Given the description of an element on the screen output the (x, y) to click on. 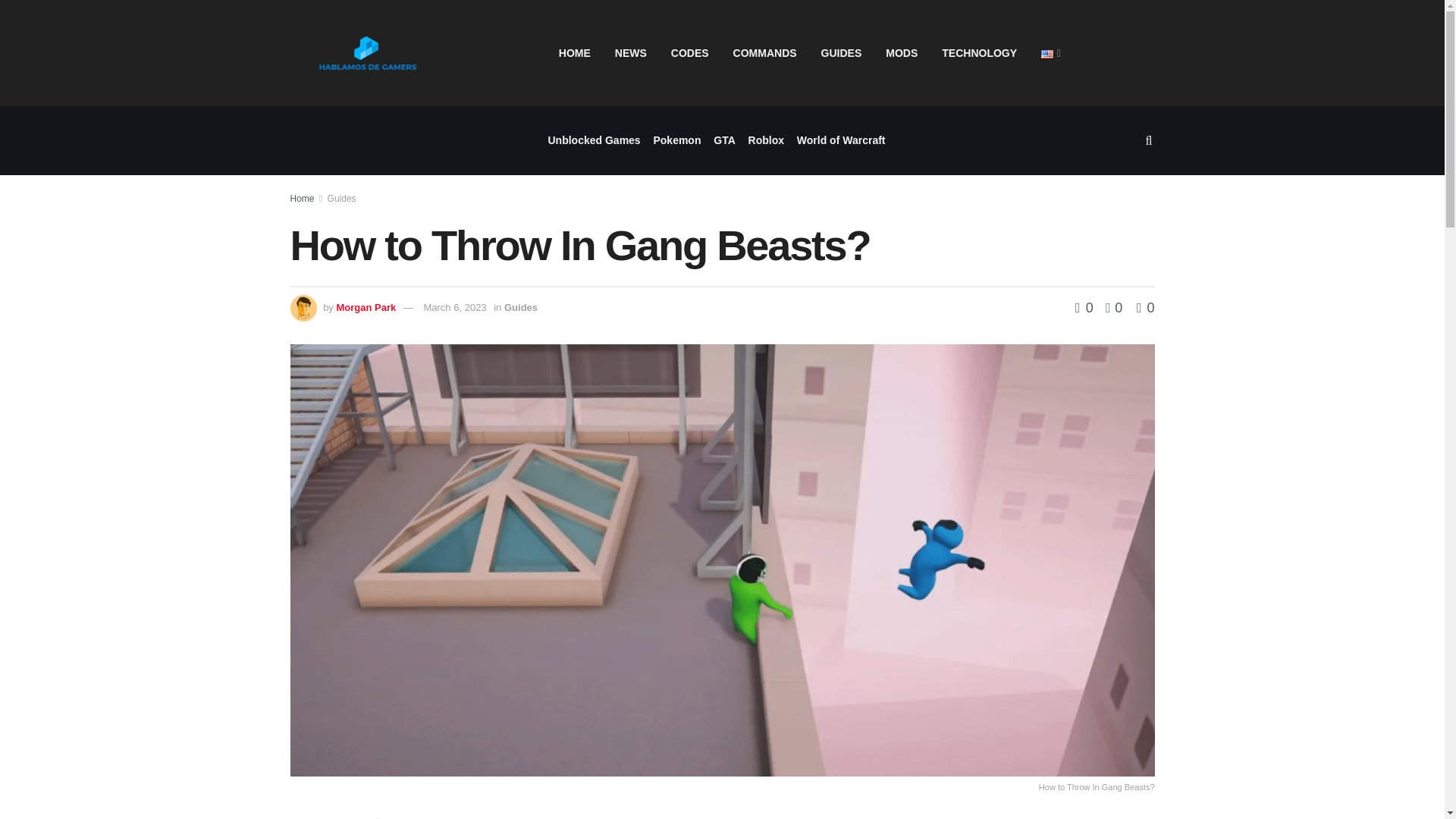
TECHNOLOGY (979, 53)
World of Warcraft (840, 140)
March 6, 2023 (454, 307)
Unblocked Games (593, 140)
NEWS (630, 53)
0 (1086, 307)
Morgan Park (366, 307)
MODS (901, 53)
Home (301, 198)
Guides (520, 307)
GUIDES (842, 53)
CODES (689, 53)
COMMANDS (764, 53)
Guides (341, 198)
HOME (574, 53)
